Given the description of an element on the screen output the (x, y) to click on. 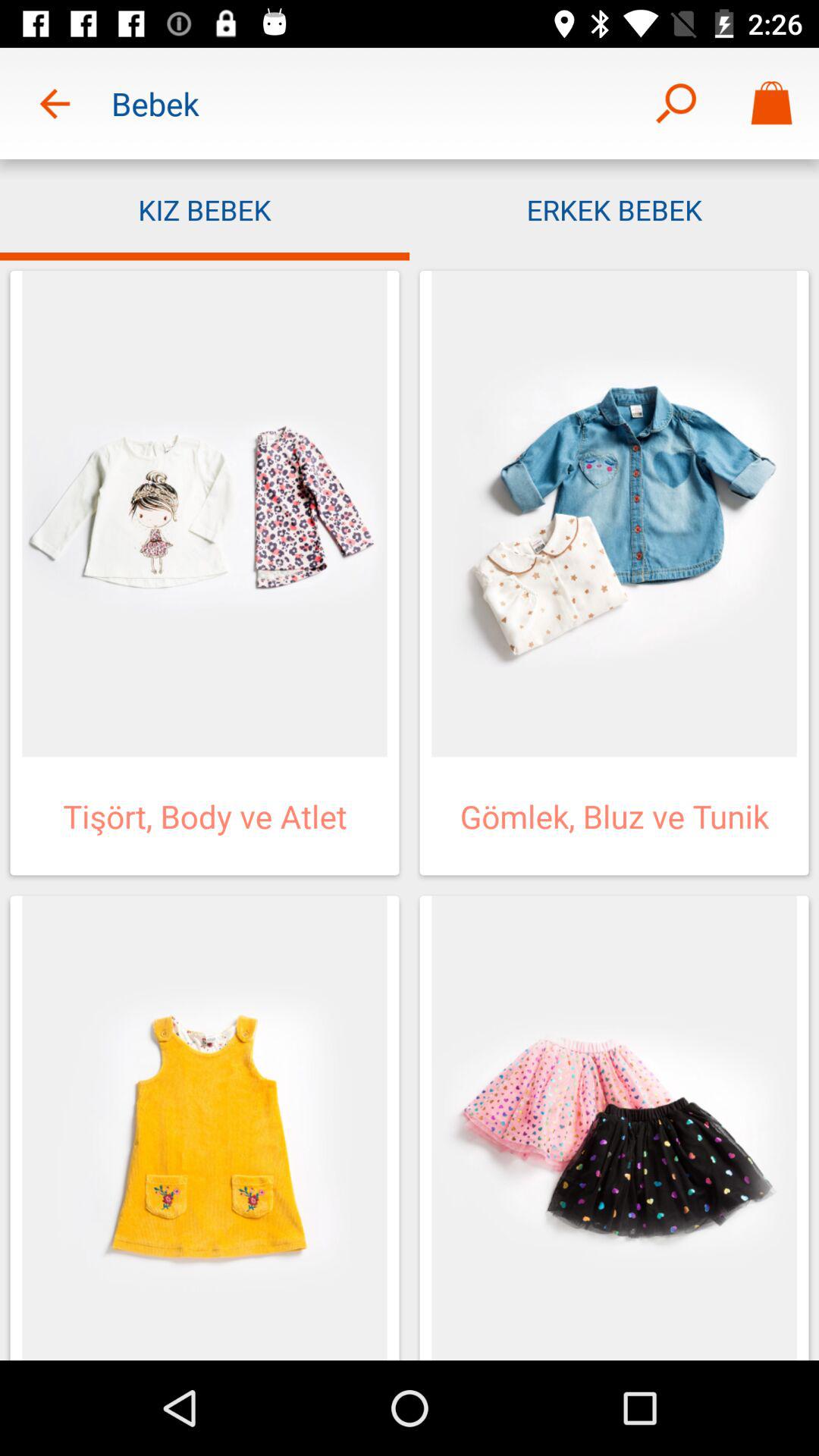
tap the erkek bebek icon (614, 209)
